Given the description of an element on the screen output the (x, y) to click on. 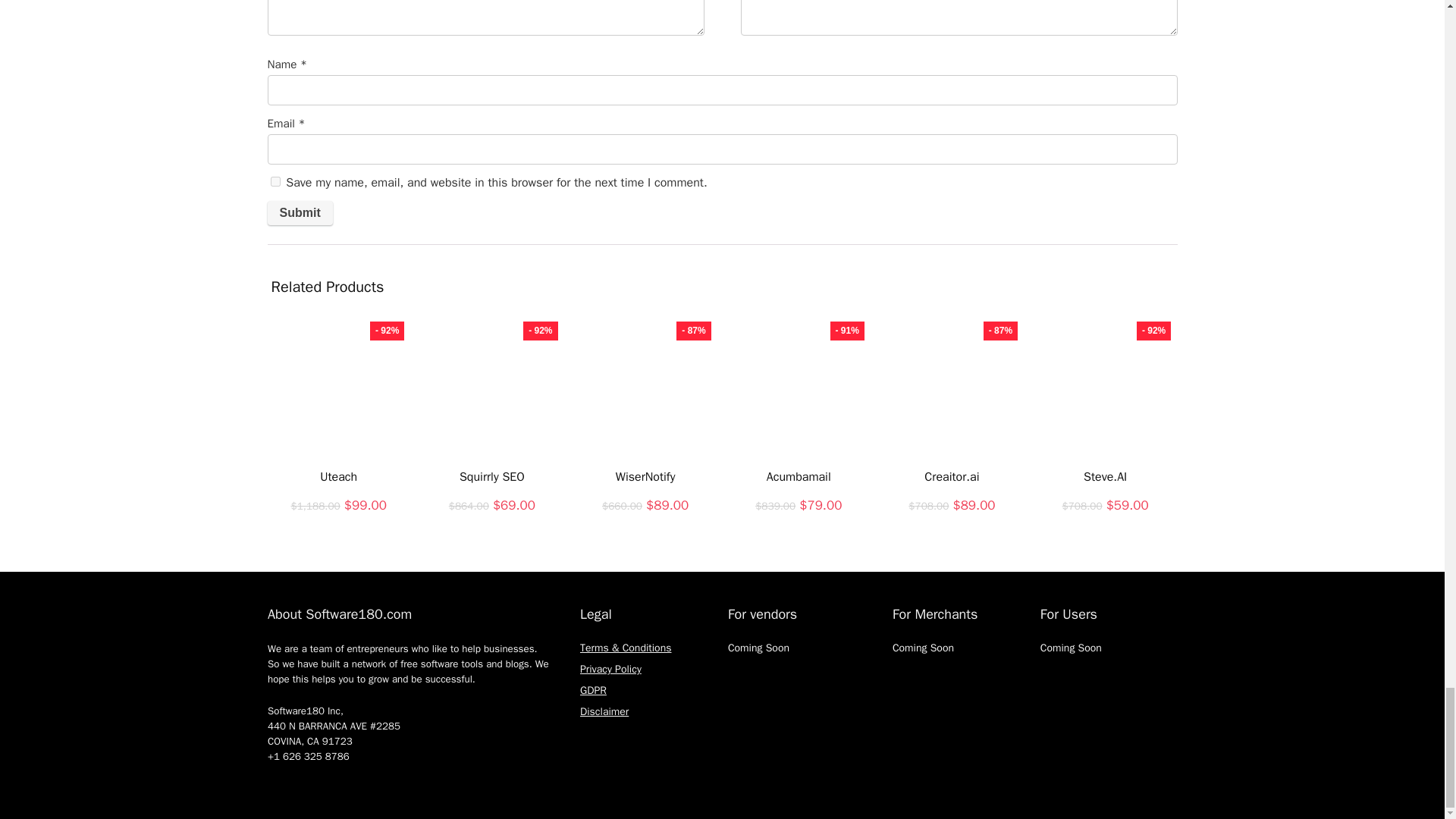
Acumbamail (799, 476)
yes (274, 181)
Uteach (338, 476)
WiserNotify (645, 476)
Submit (298, 212)
Squirrly SEO (492, 476)
Creaitor.ai (951, 476)
Submit (298, 212)
